Given the description of an element on the screen output the (x, y) to click on. 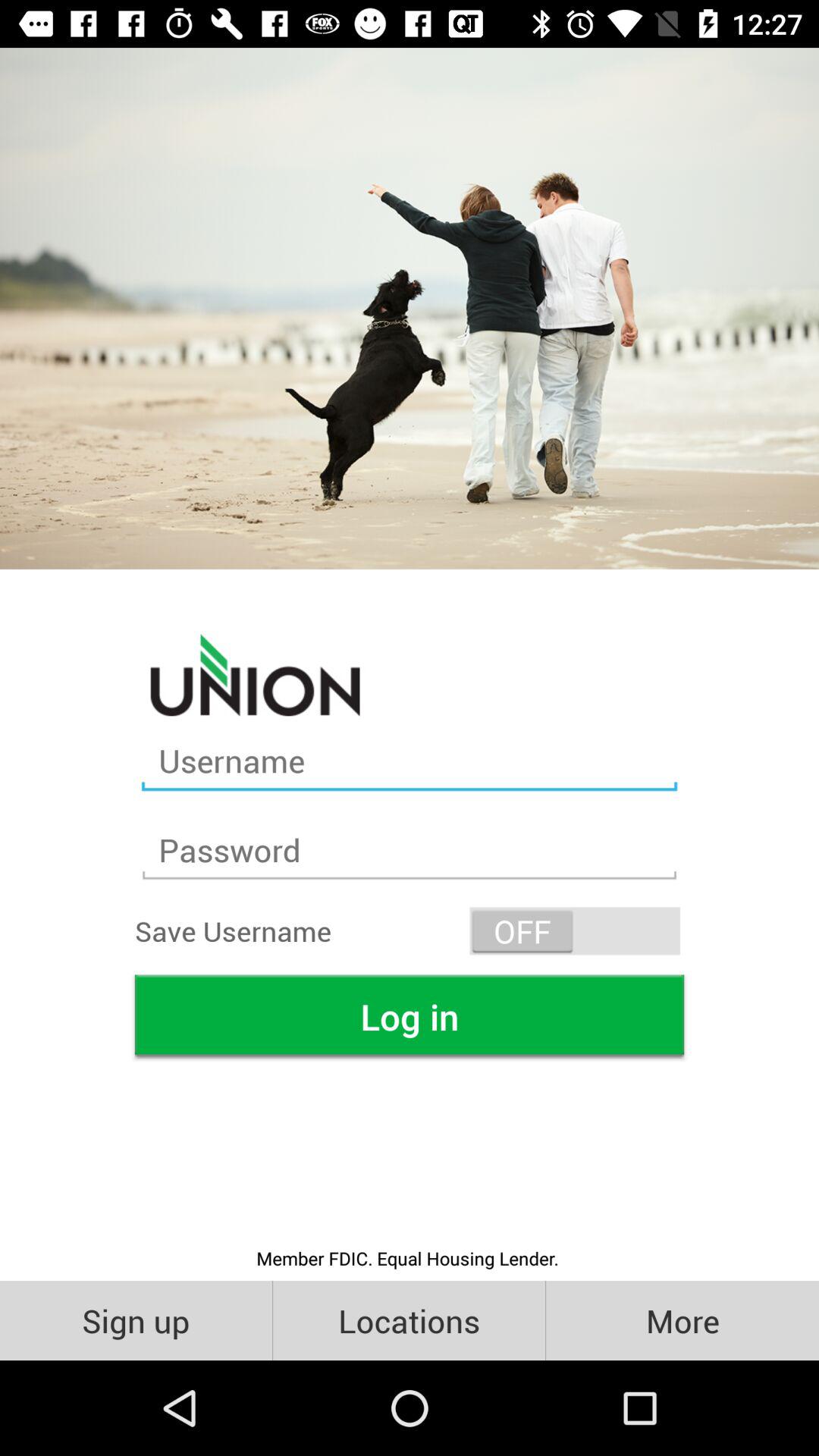
turn on the icon below member fdic equal item (409, 1320)
